Given the description of an element on the screen output the (x, y) to click on. 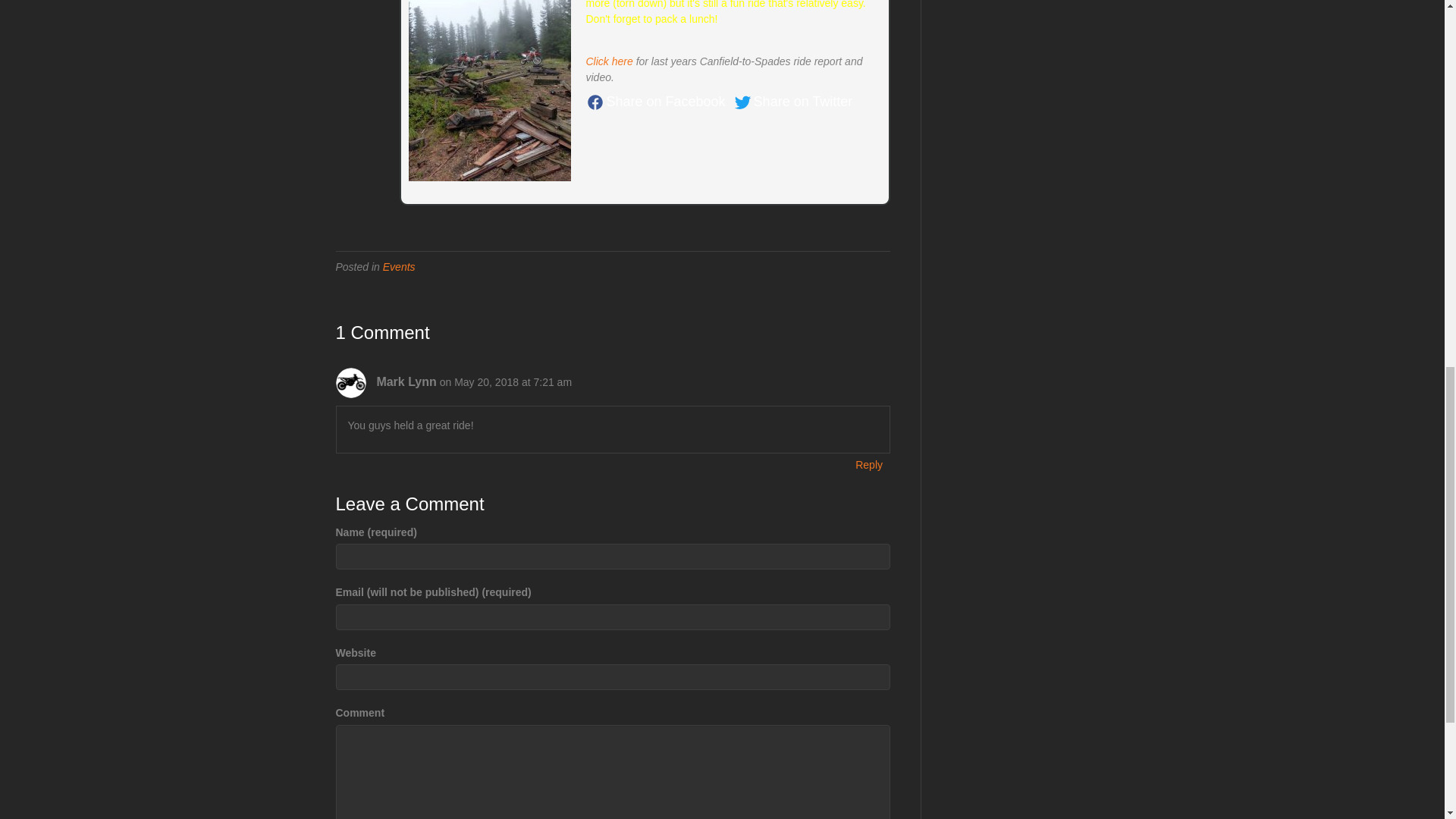
Events (398, 266)
Share on Facebook (655, 101)
Share on Twitter (793, 101)
Reply (868, 465)
Click here (608, 61)
